Given the description of an element on the screen output the (x, y) to click on. 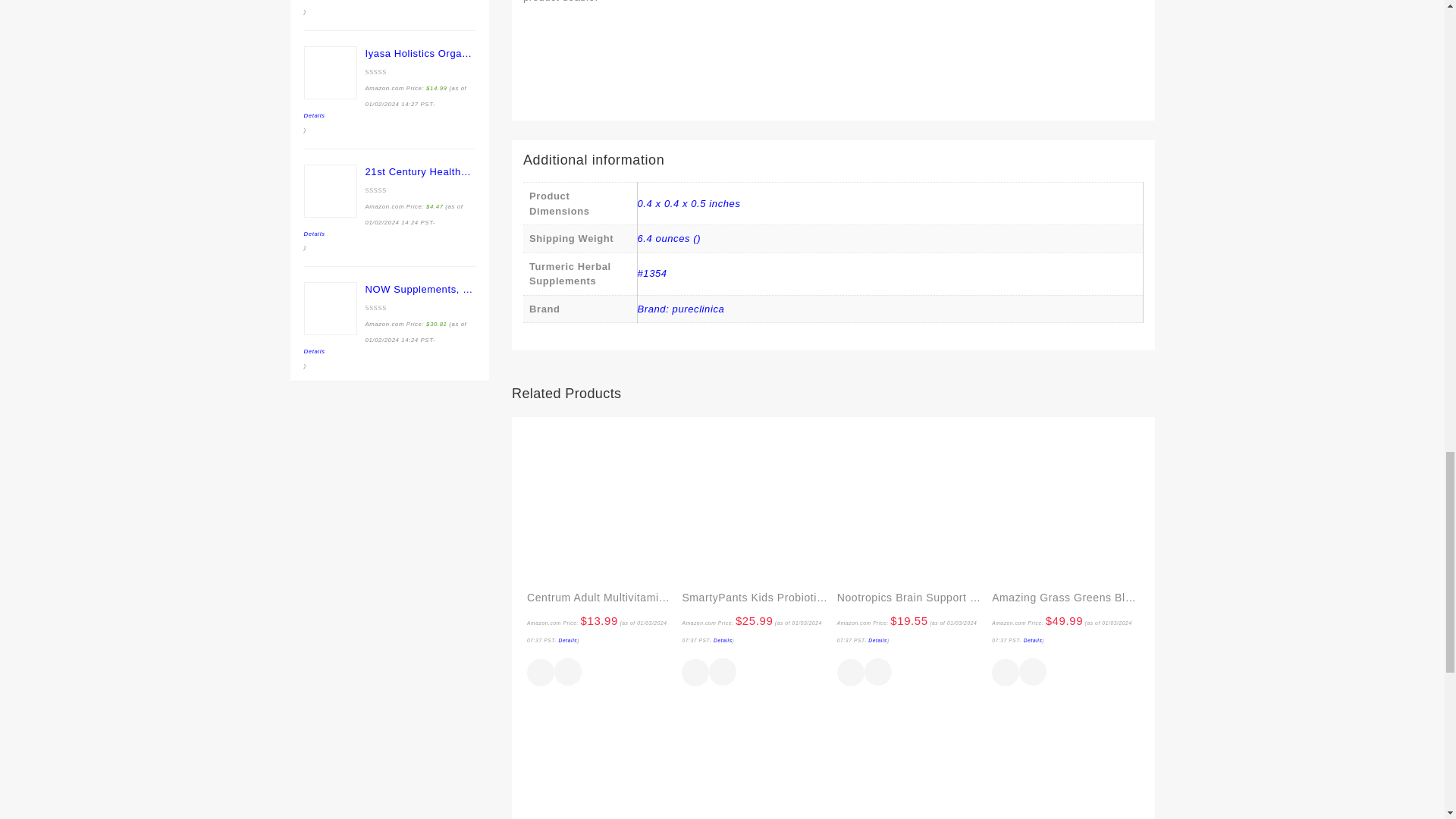
QUICK VIEW (567, 673)
Details (568, 640)
BUY PRODUCT (540, 672)
Brand: pureclinica (680, 308)
0.4 x 0.4 x 0.5 inches (688, 203)
